Given the description of an element on the screen output the (x, y) to click on. 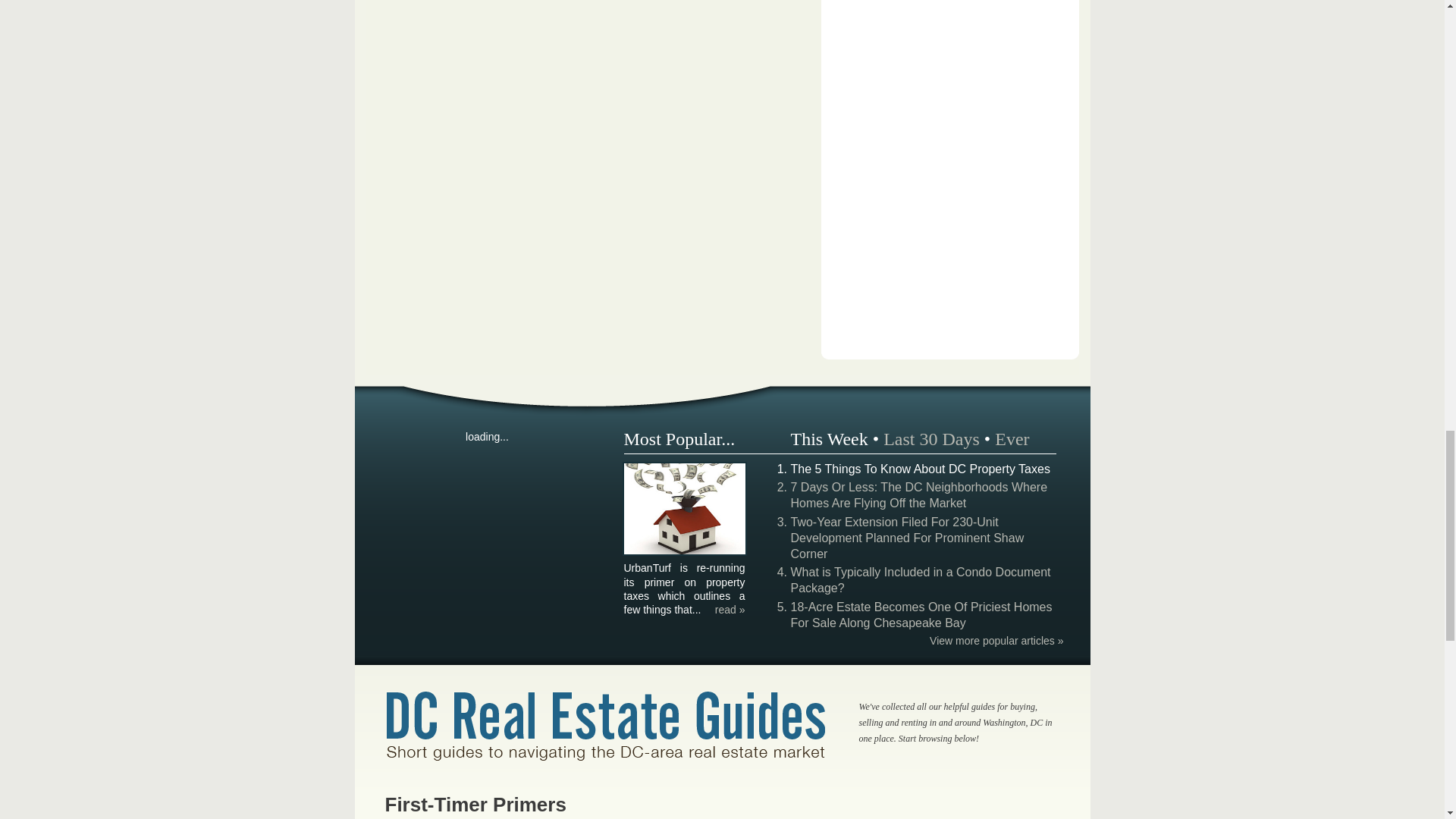
This Week (828, 438)
Ever (1011, 438)
The 5 Things To Know About DC Property Taxes (684, 551)
Last 30 Days (931, 438)
Read the article (729, 609)
